Given the description of an element on the screen output the (x, y) to click on. 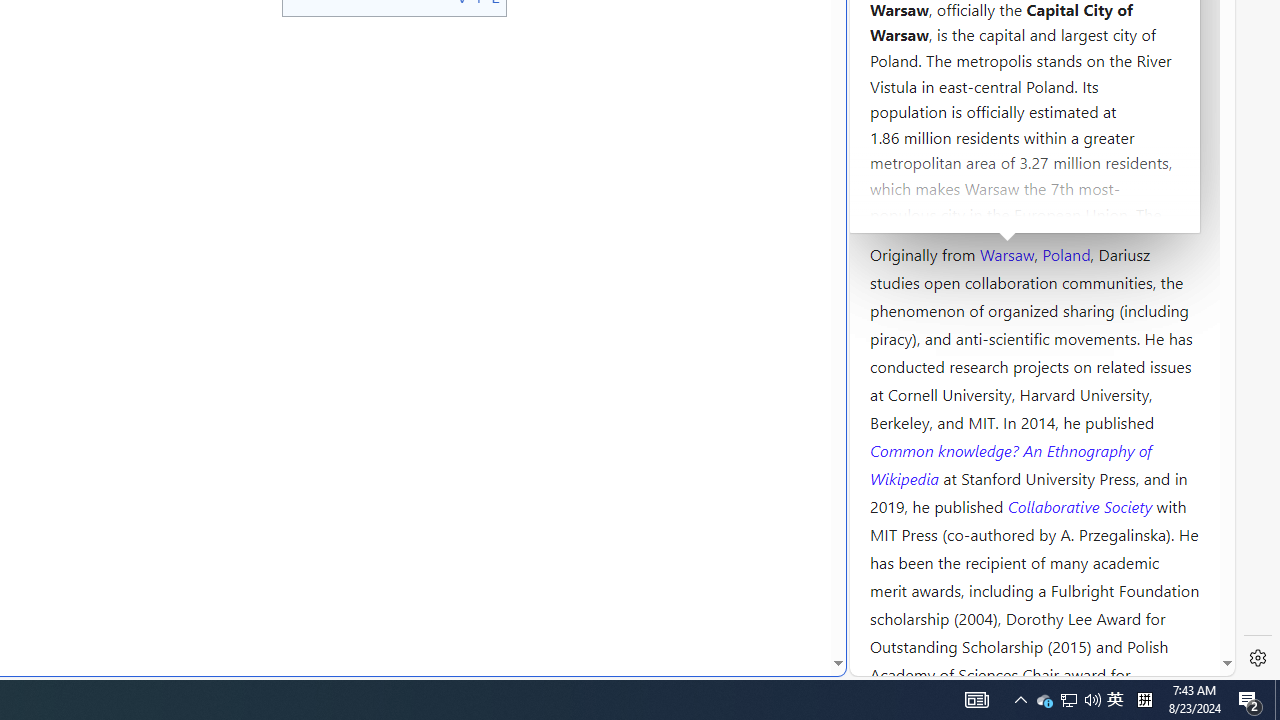
Common knowledge? An Ethnography of Wikipedia (1010, 463)
Warsaw (1006, 253)
